Given the description of an element on the screen output the (x, y) to click on. 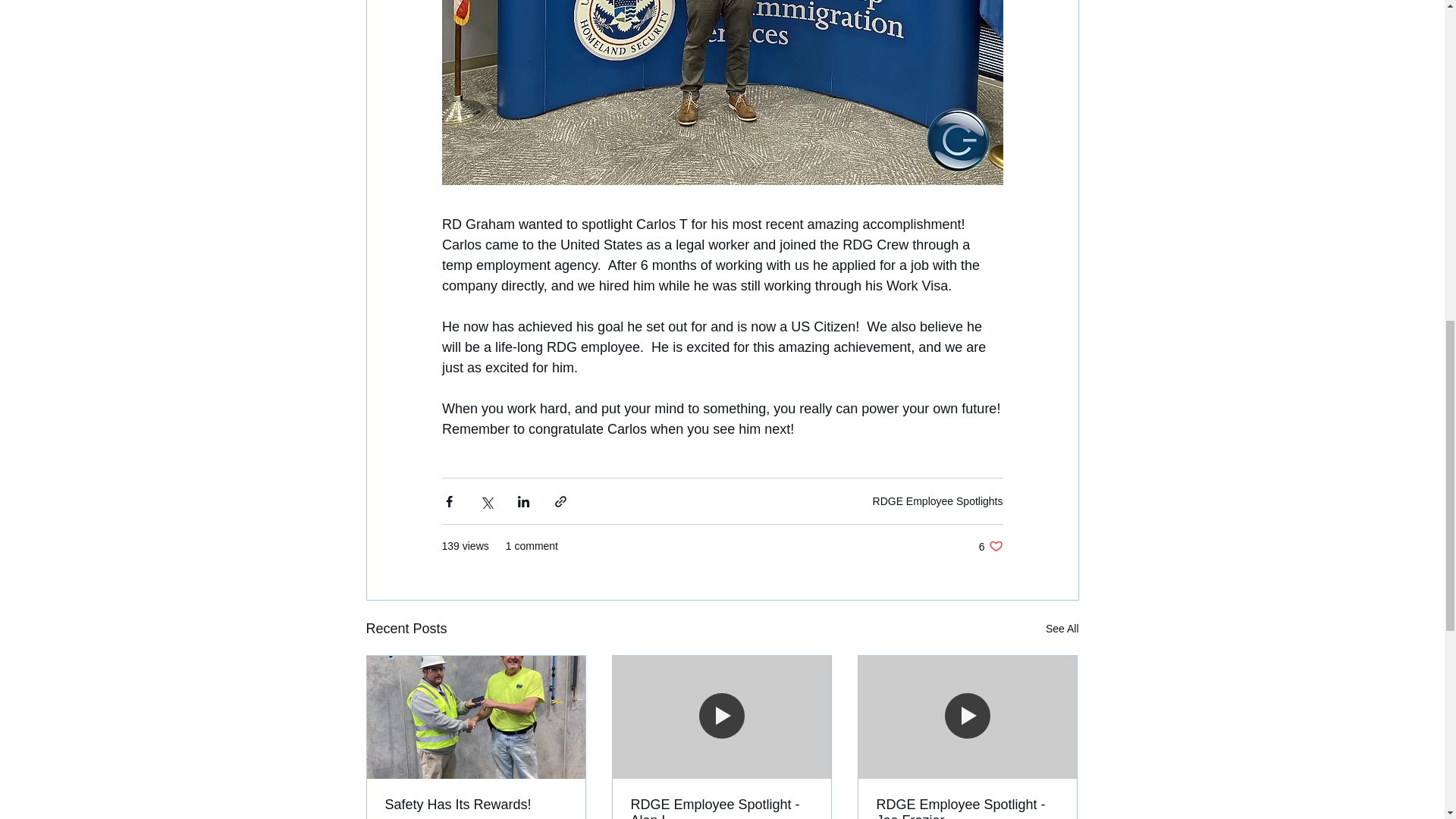
RDGE Employee Spotlights (990, 545)
See All (937, 500)
